Given the description of an element on the screen output the (x, y) to click on. 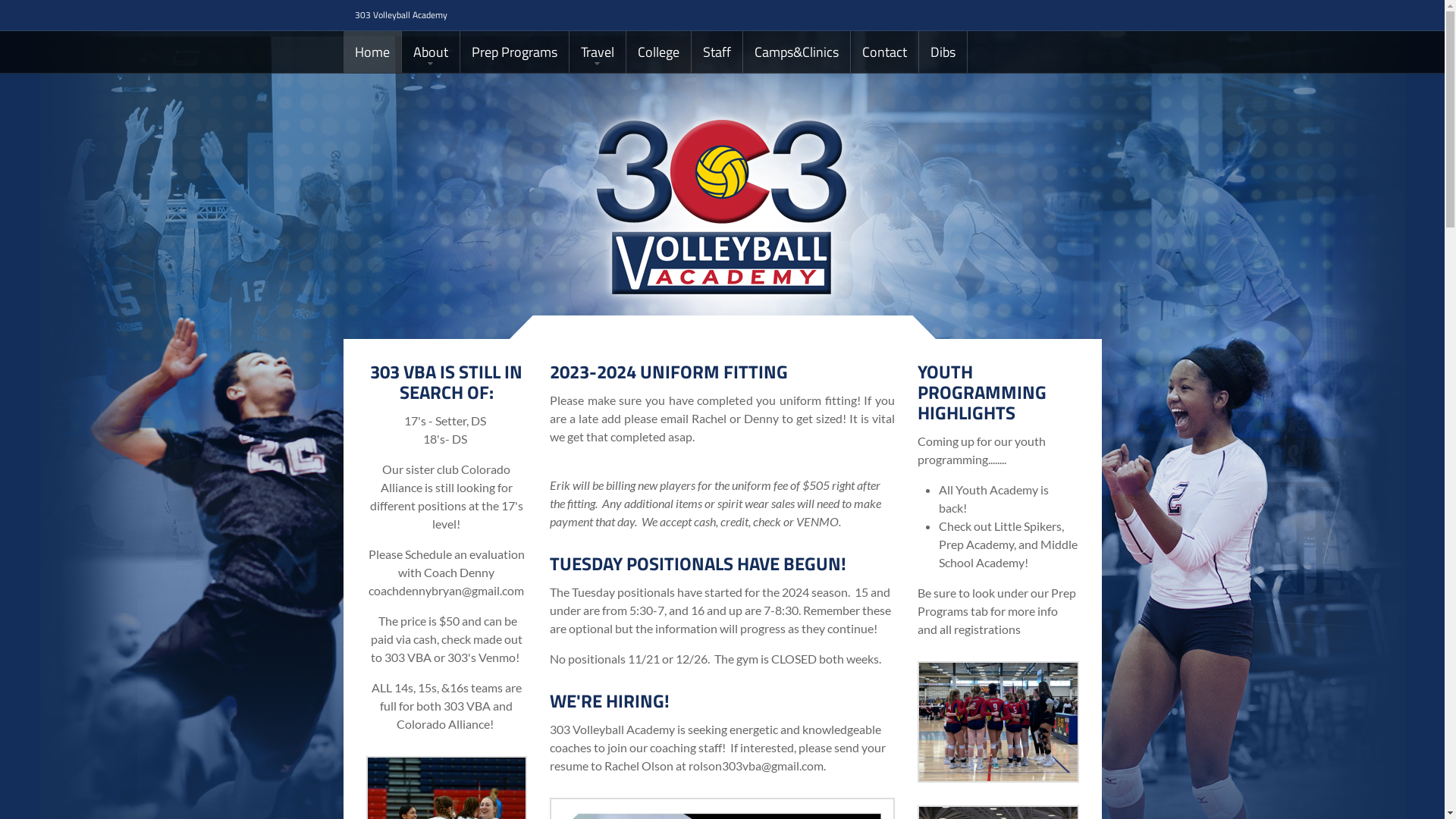
Home Element type: text (371, 51)
Prep Programs Element type: text (513, 51)
College Element type: text (658, 51)
Travel Element type: text (596, 51)
Staff Element type: text (716, 51)
Contact Element type: text (884, 51)
Camps&Clinics Element type: text (796, 51)
Dibs Element type: text (942, 51)
About Element type: text (430, 51)
